Given the description of an element on the screen output the (x, y) to click on. 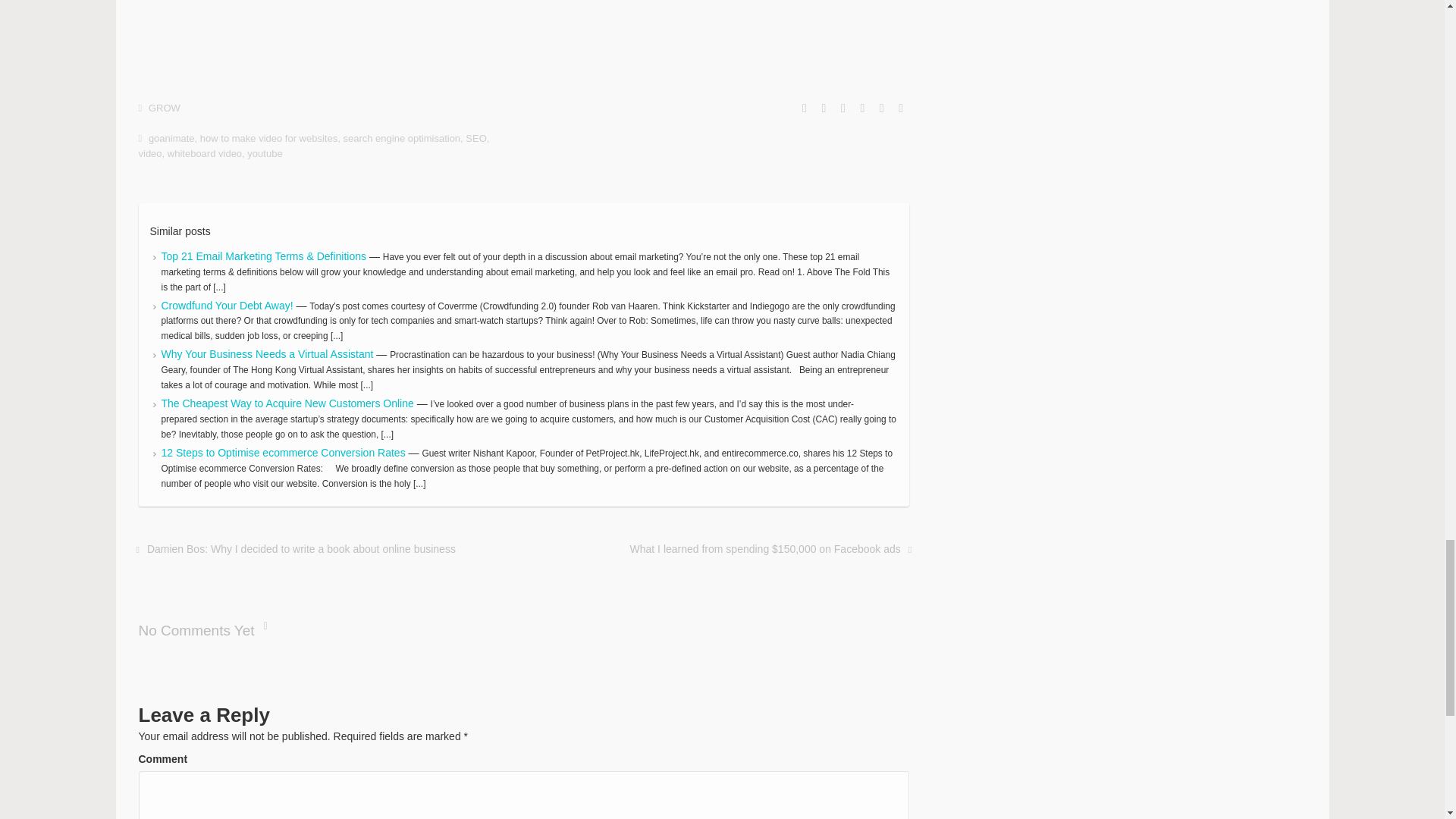
GROW (164, 107)
goanimate (171, 138)
Permanent Link to Crowdfund Your Debt Away! (227, 304)
